Given the description of an element on the screen output the (x, y) to click on. 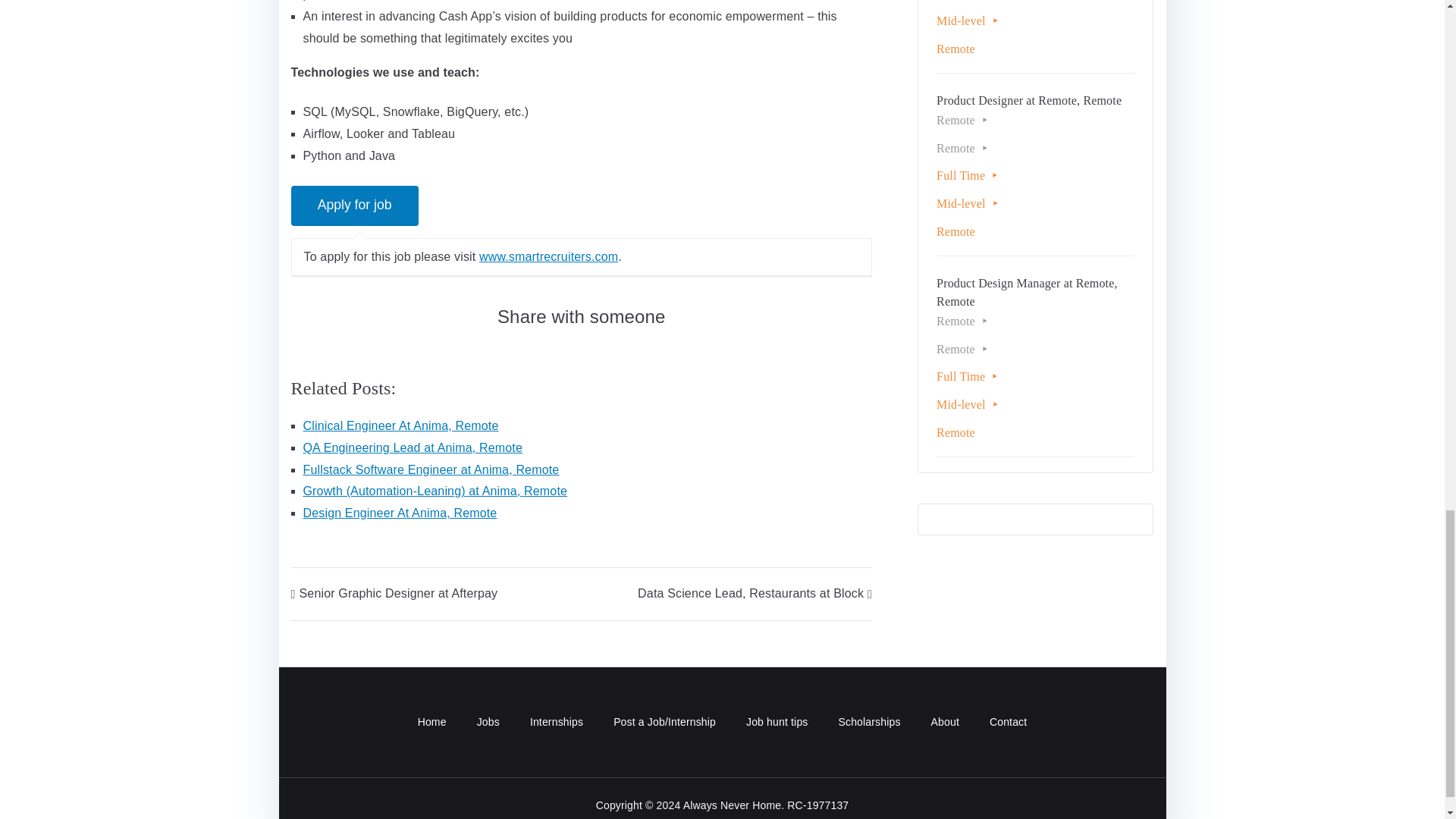
Apply for job (355, 205)
Clinical Engineer At Anima, Remote (400, 425)
QA Engineering Lead at Anima, Remote (412, 447)
Always Never Home (731, 805)
Fullstack Software Engineer at Anima, Remote (430, 469)
Design Engineer At Anima, Remote (399, 512)
www.smartrecruiters.com (548, 256)
